Given the description of an element on the screen output the (x, y) to click on. 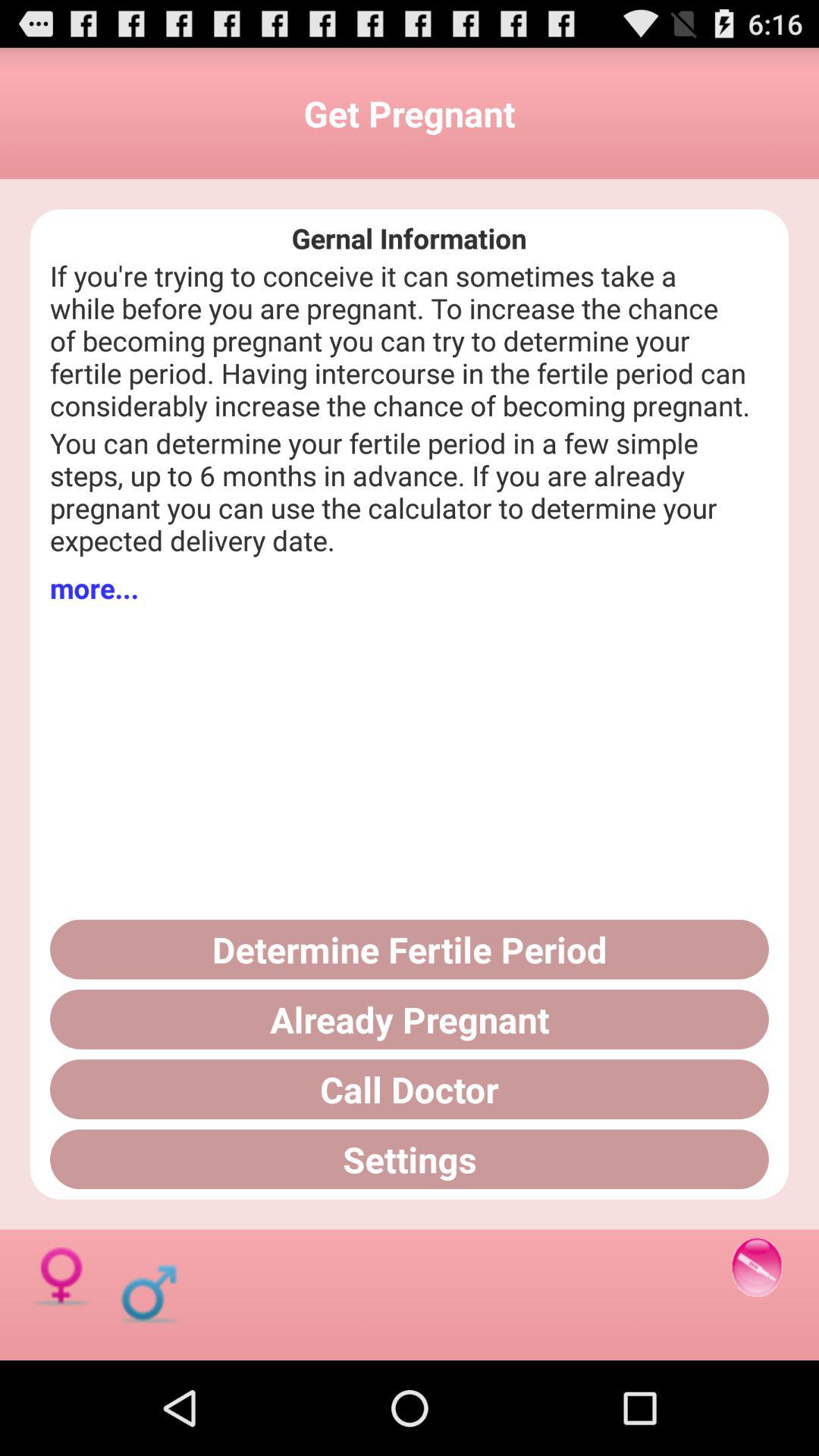
scroll until the more... item (94, 587)
